Given the description of an element on the screen output the (x, y) to click on. 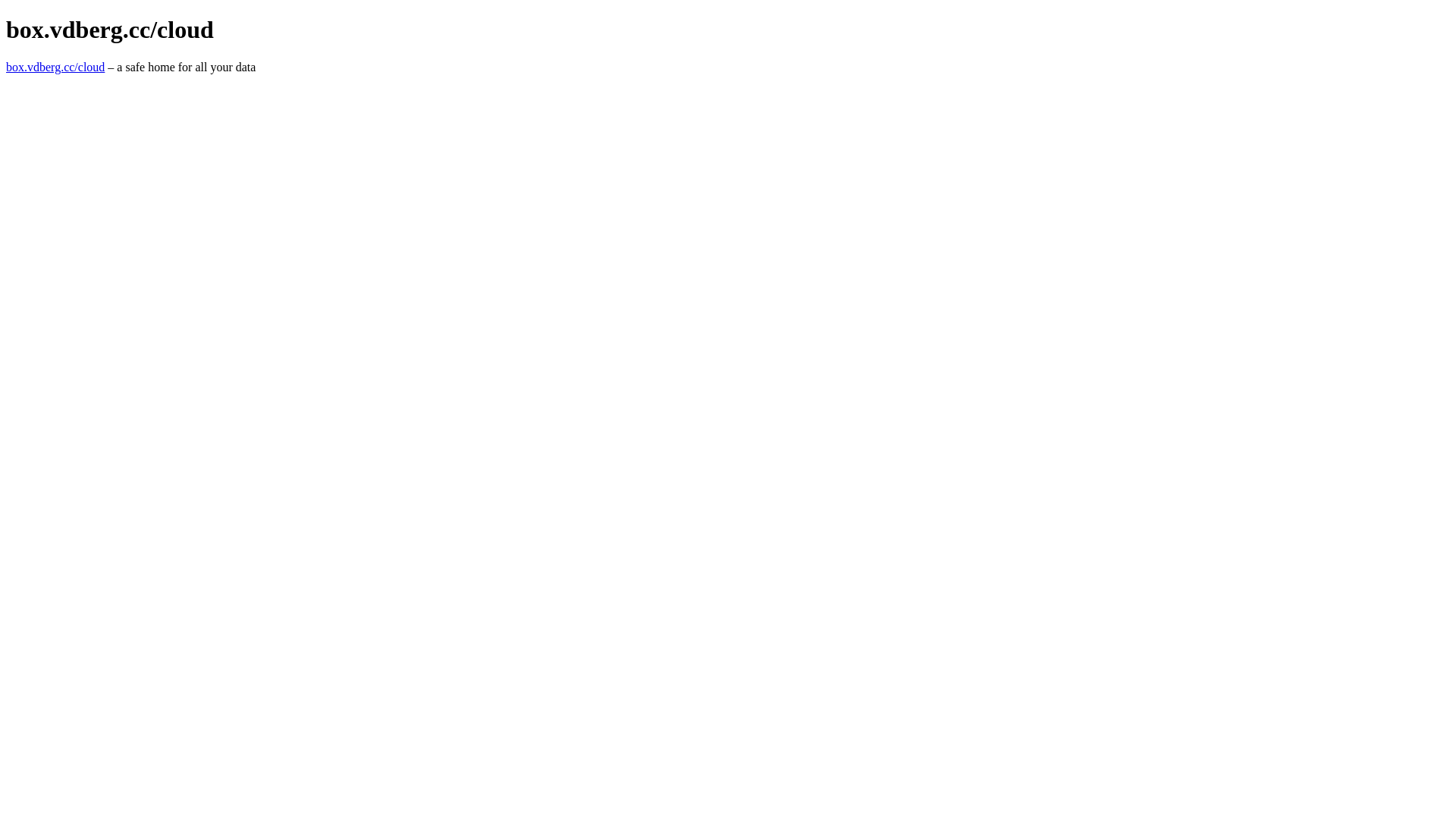
box.vdberg.cc/cloud Element type: text (55, 66)
